Given the description of an element on the screen output the (x, y) to click on. 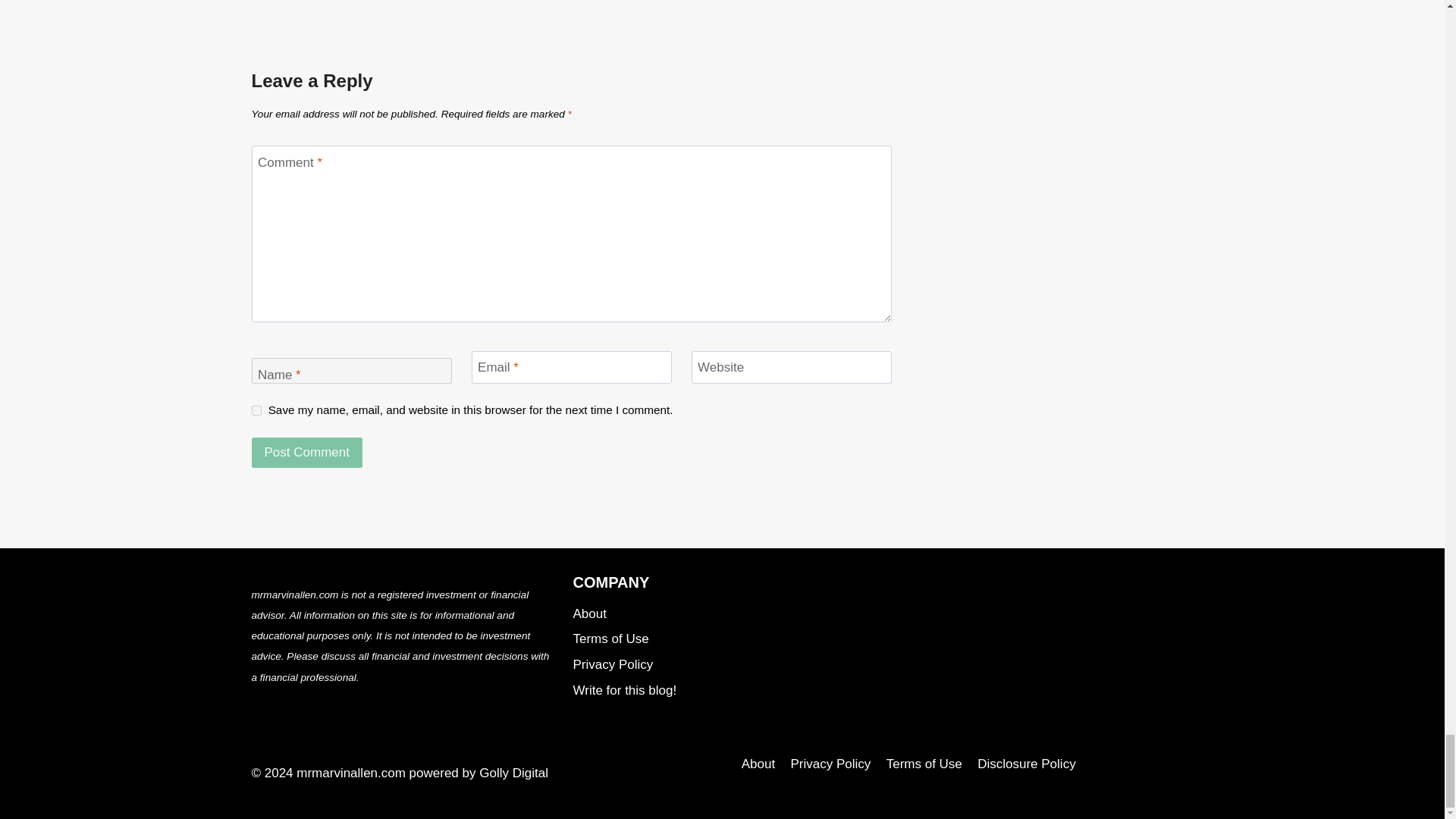
Post Comment (306, 452)
yes (256, 410)
